Given the description of an element on the screen output the (x, y) to click on. 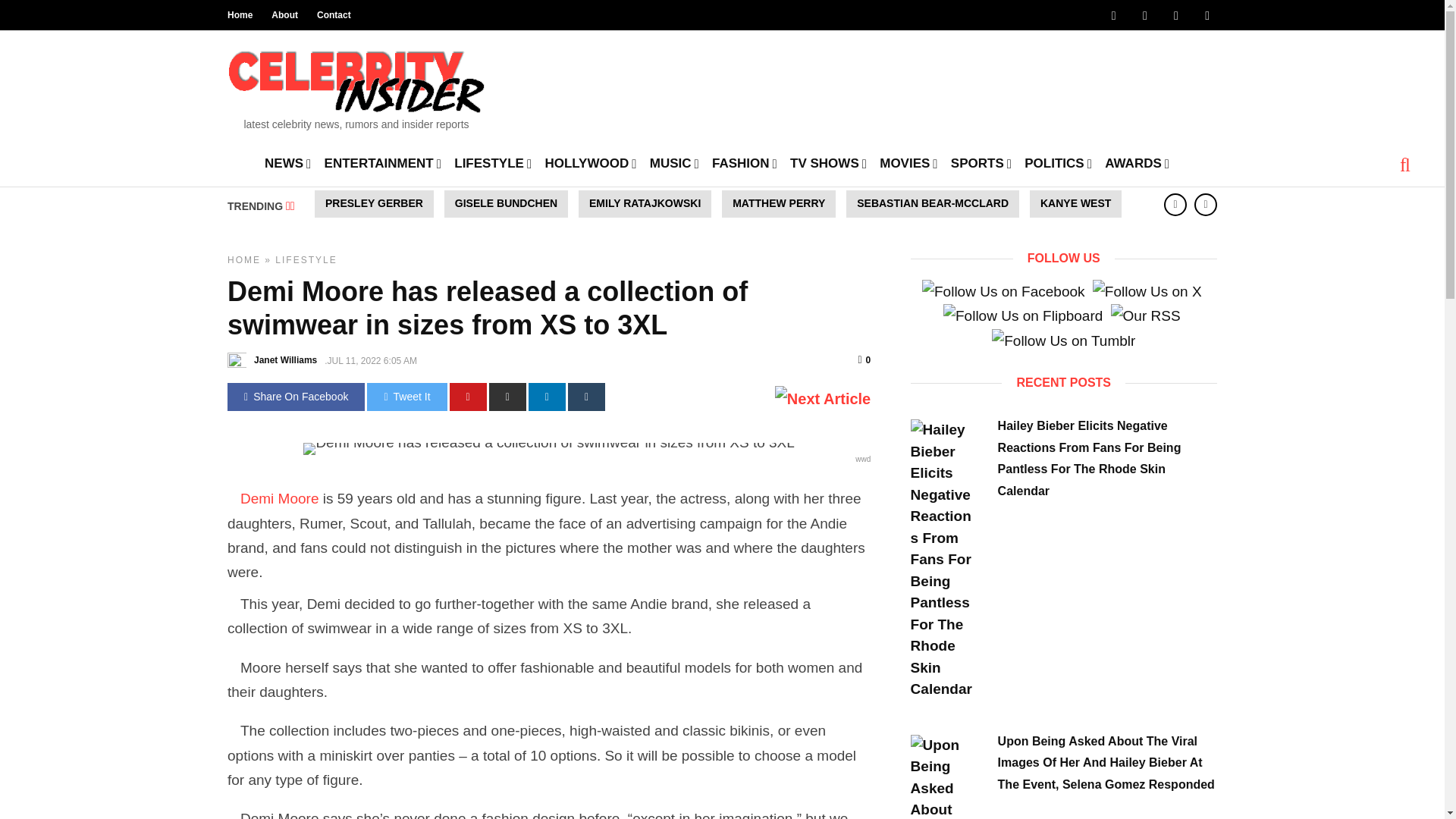
EMILY RATAJKOWSKI (644, 203)
Share On Linkedin (547, 397)
About (284, 14)
Share On Twitter (406, 397)
latest celebrity news, rumors and insider reports (355, 84)
MUSIC (674, 162)
AWARDS (1136, 162)
GISELE BUNDCHEN (505, 203)
NEWS (287, 162)
Home (239, 14)
